Given the description of an element on the screen output the (x, y) to click on. 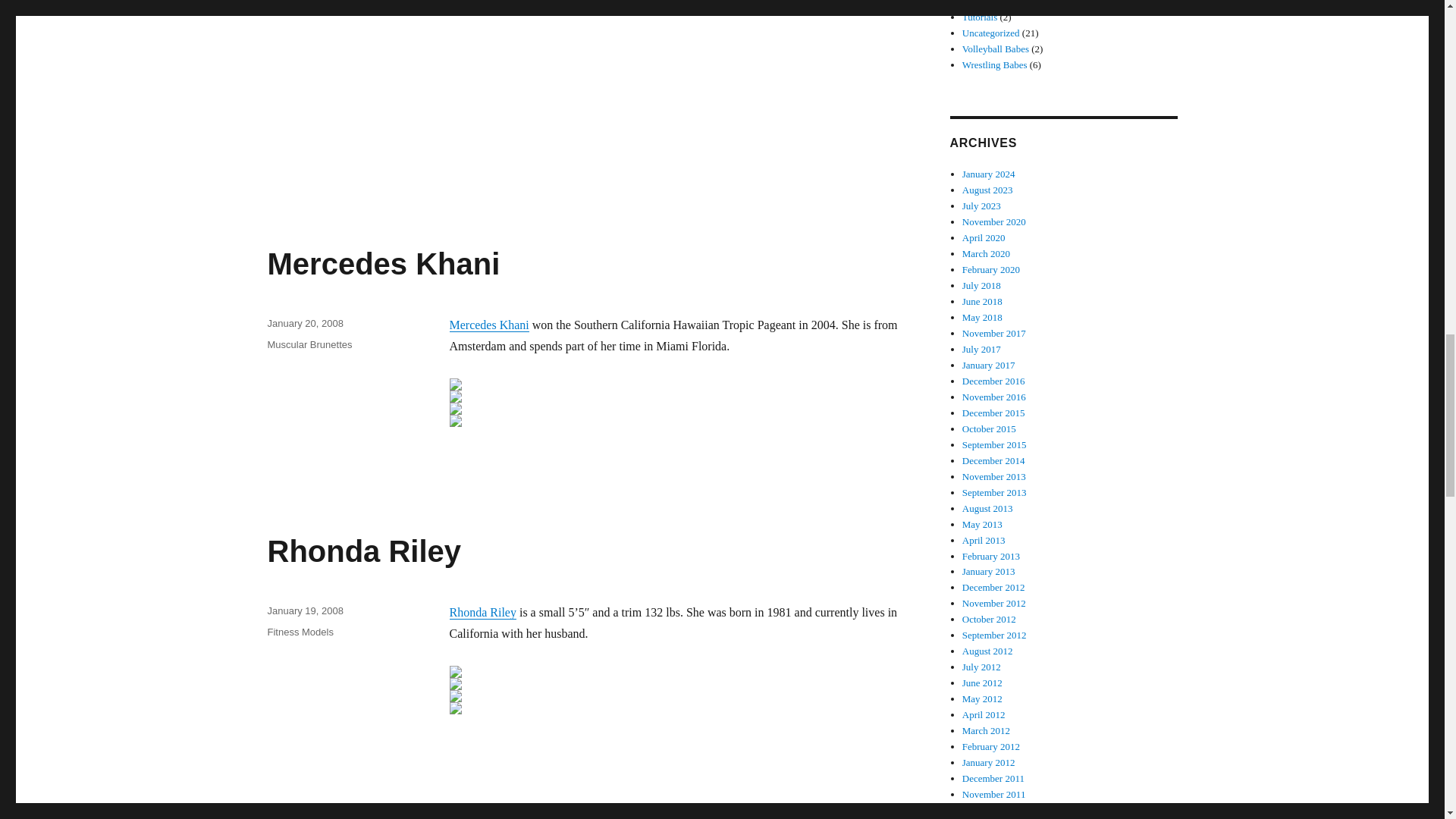
Muscular Brunettes (309, 344)
Mercedes Khani (382, 263)
Rhonda Riley (363, 551)
Mercedes Khani (488, 324)
January 19, 2008 (304, 610)
January 20, 2008 (304, 323)
Rhonda Riley (481, 612)
